Given the description of an element on the screen output the (x, y) to click on. 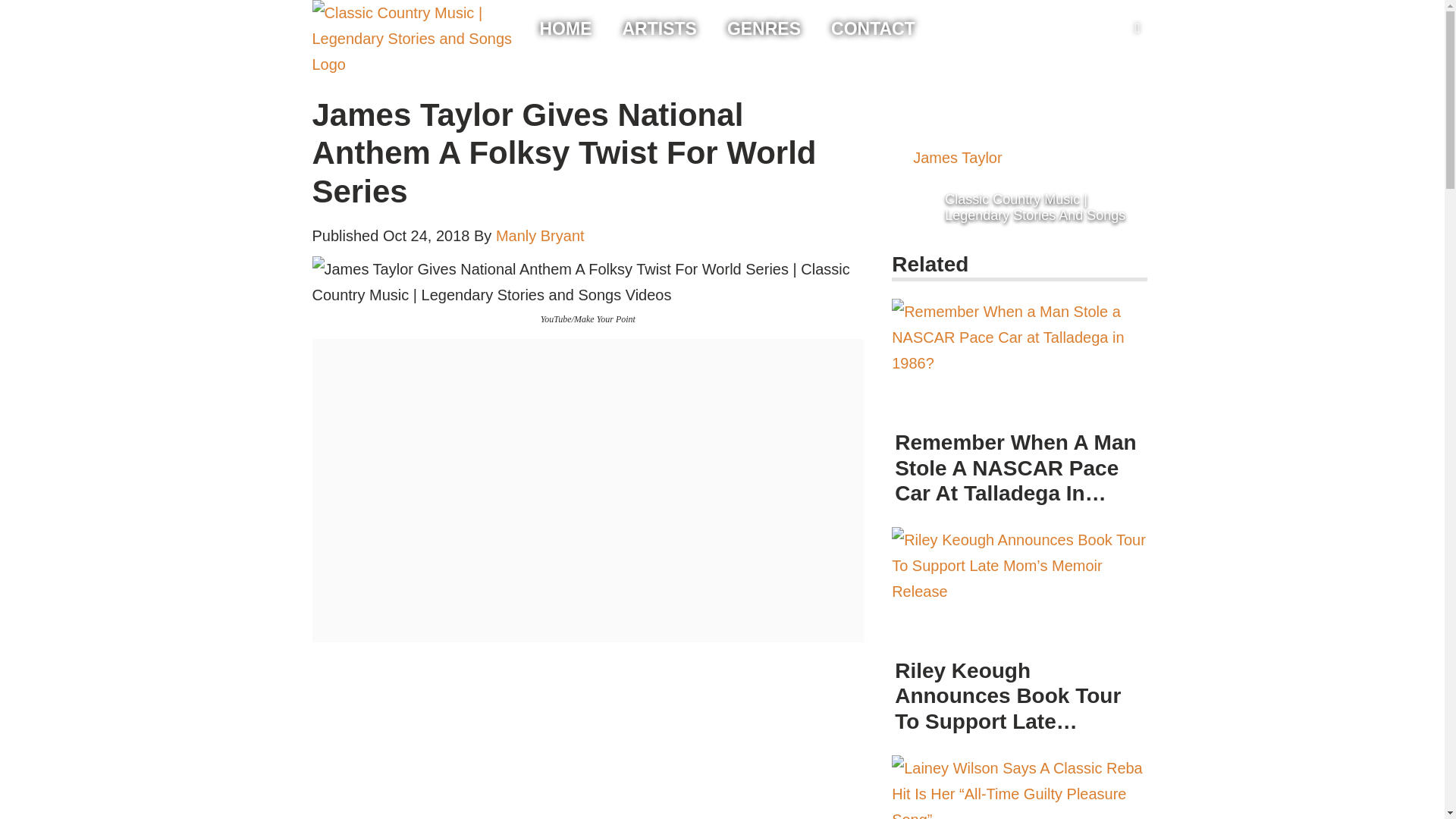
CONTACT (873, 28)
ARTISTS (658, 28)
Search (15, 6)
GENRES (763, 28)
HOME (566, 28)
